Given the description of an element on the screen output the (x, y) to click on. 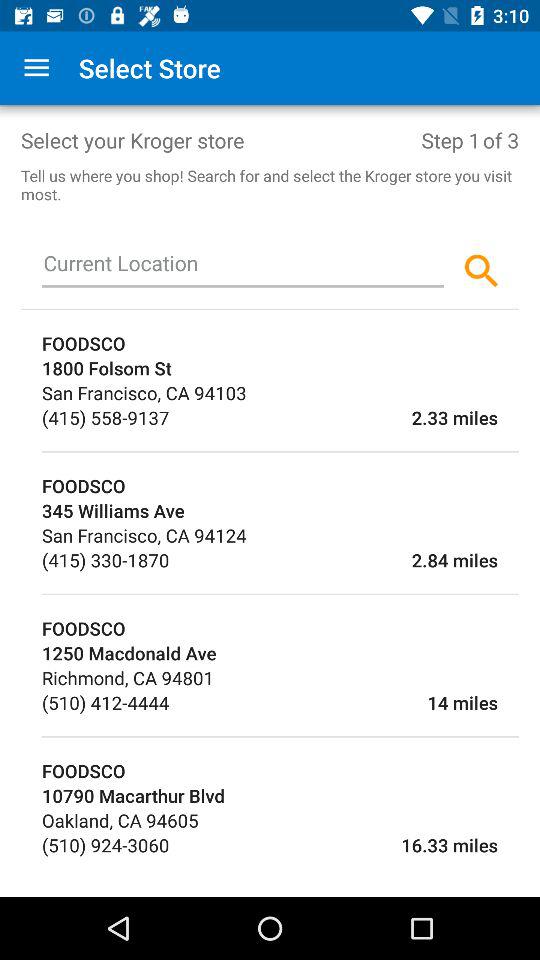
jump until the 1250 macdonald ave icon (280, 652)
